Given the description of an element on the screen output the (x, y) to click on. 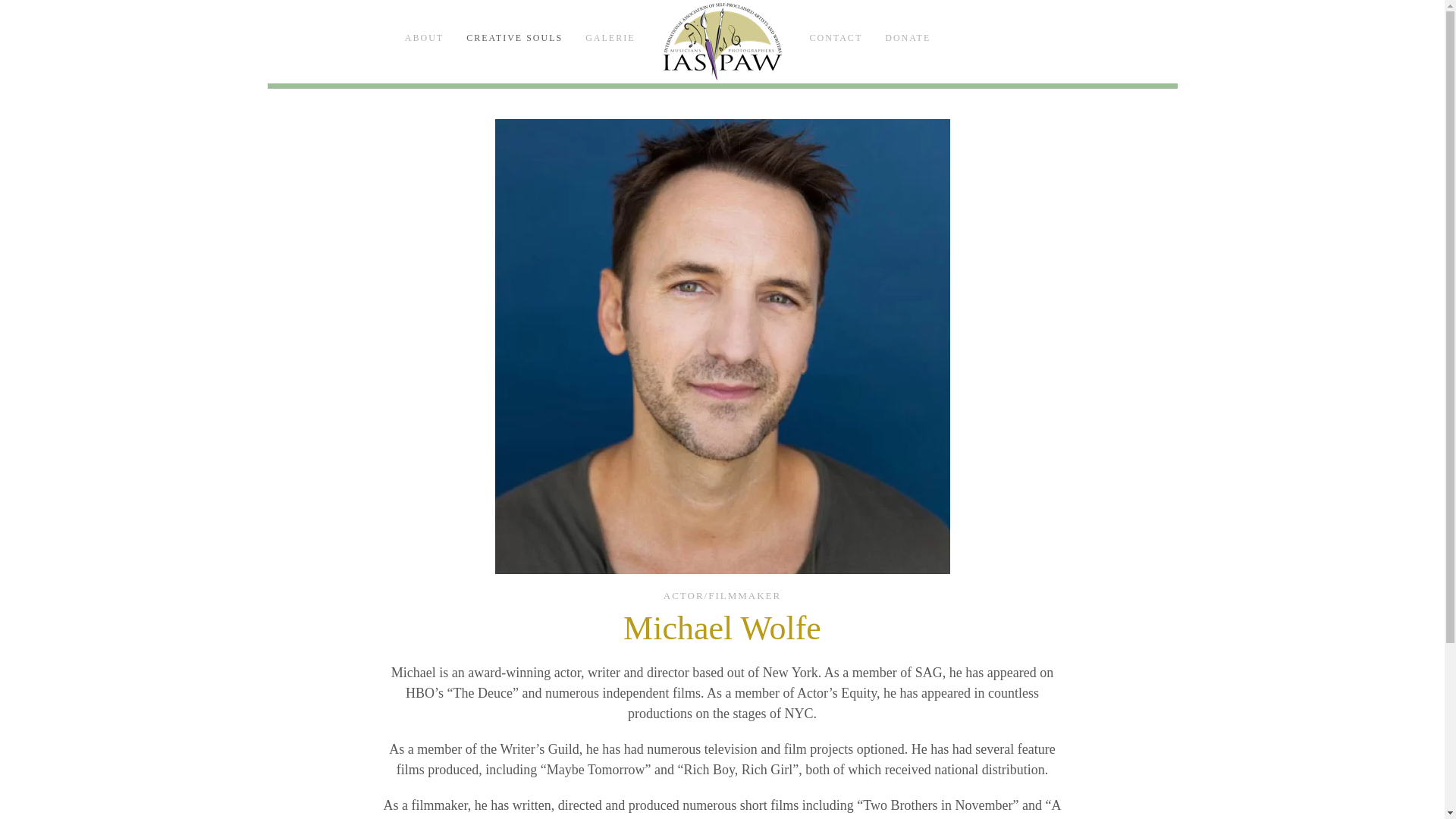
IASPAW (722, 40)
CREATIVE SOULS (513, 38)
